Given the description of an element on the screen output the (x, y) to click on. 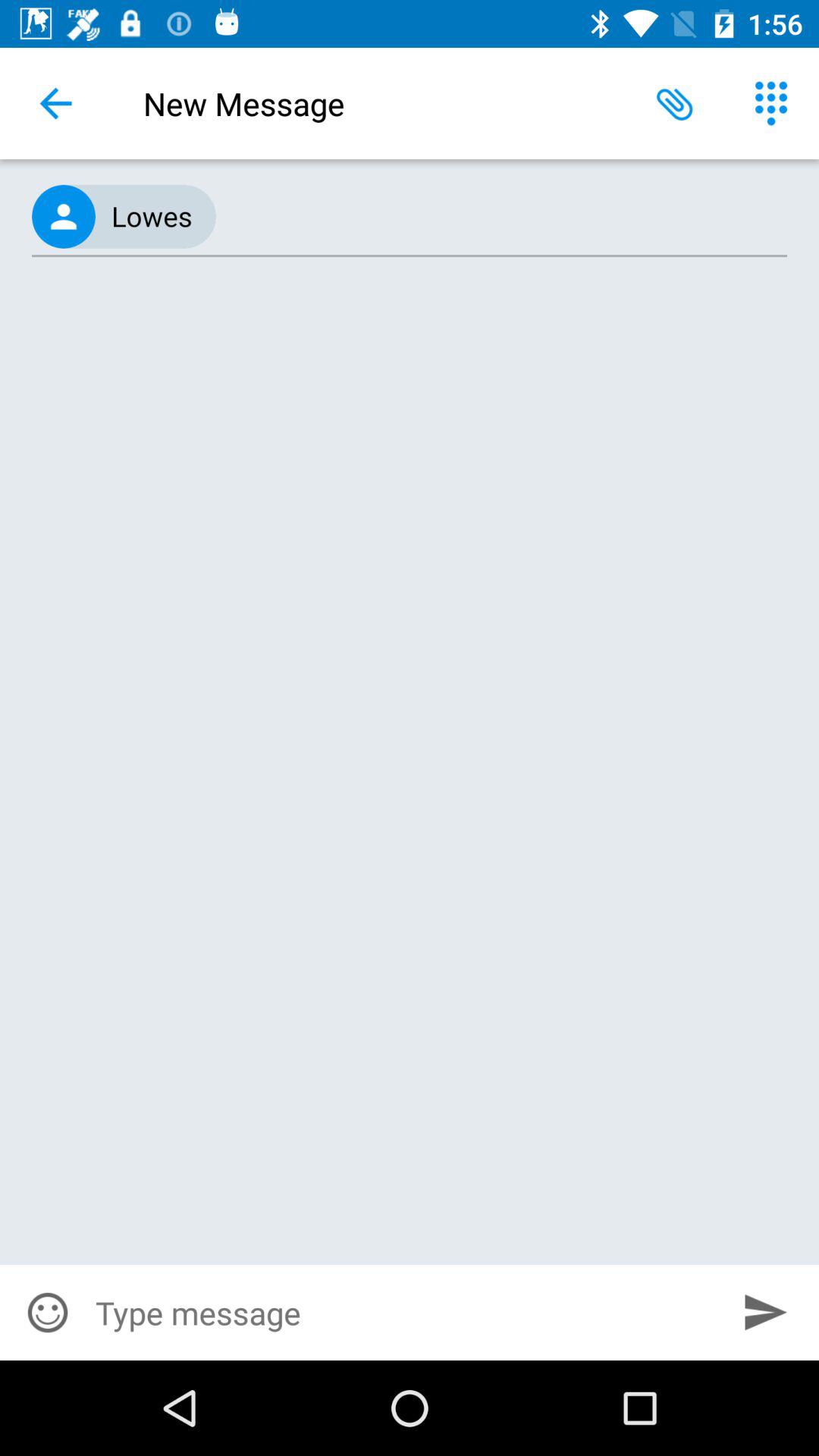
tap item at the bottom left corner (47, 1312)
